Given the description of an element on the screen output the (x, y) to click on. 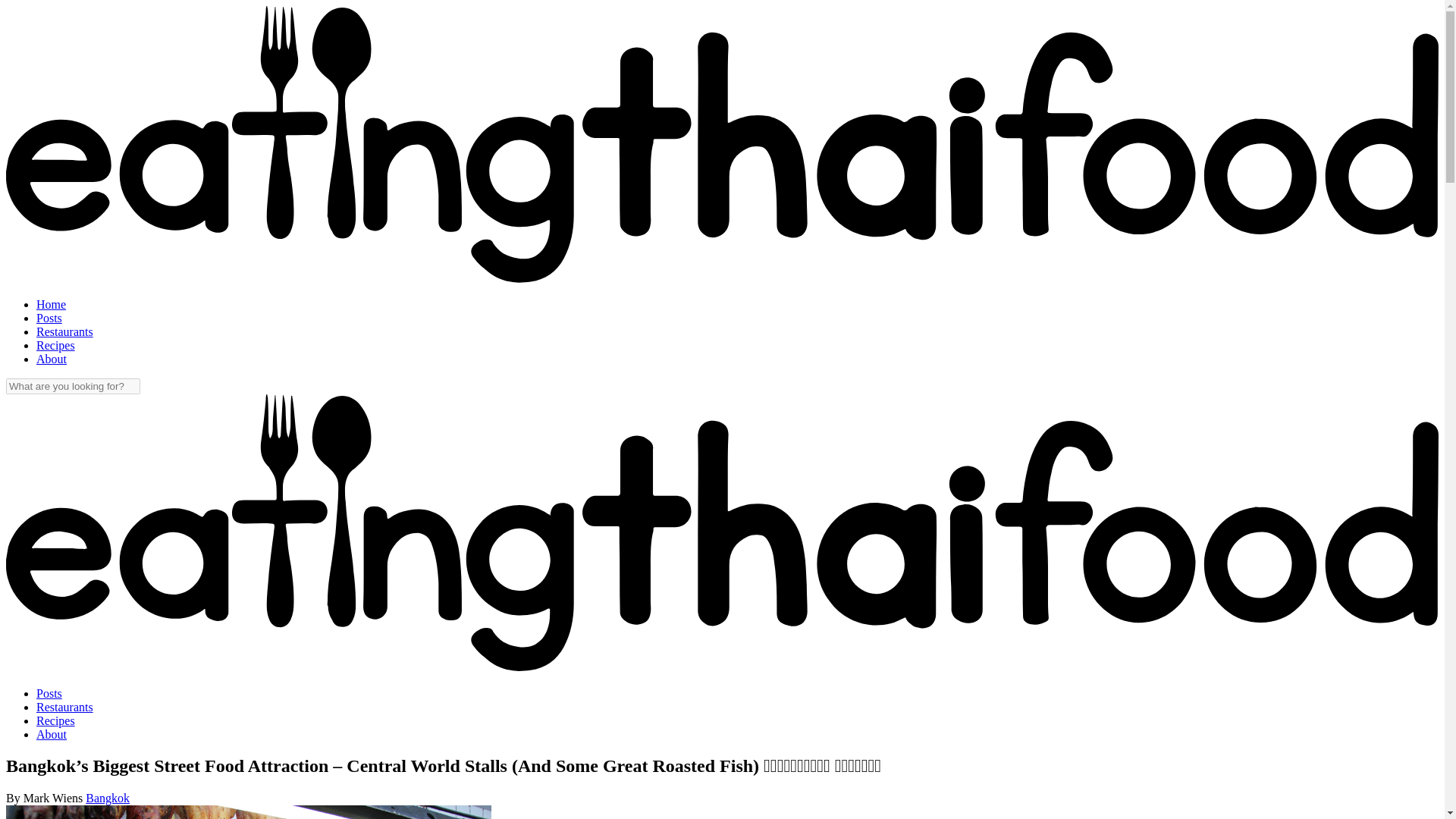
Recipes (55, 720)
Posts (49, 693)
Recipes (55, 345)
Bangkok (107, 797)
About (51, 734)
Restaurants (64, 331)
About (51, 358)
Posts (49, 318)
Home (50, 304)
Restaurants (64, 707)
